Given the description of an element on the screen output the (x, y) to click on. 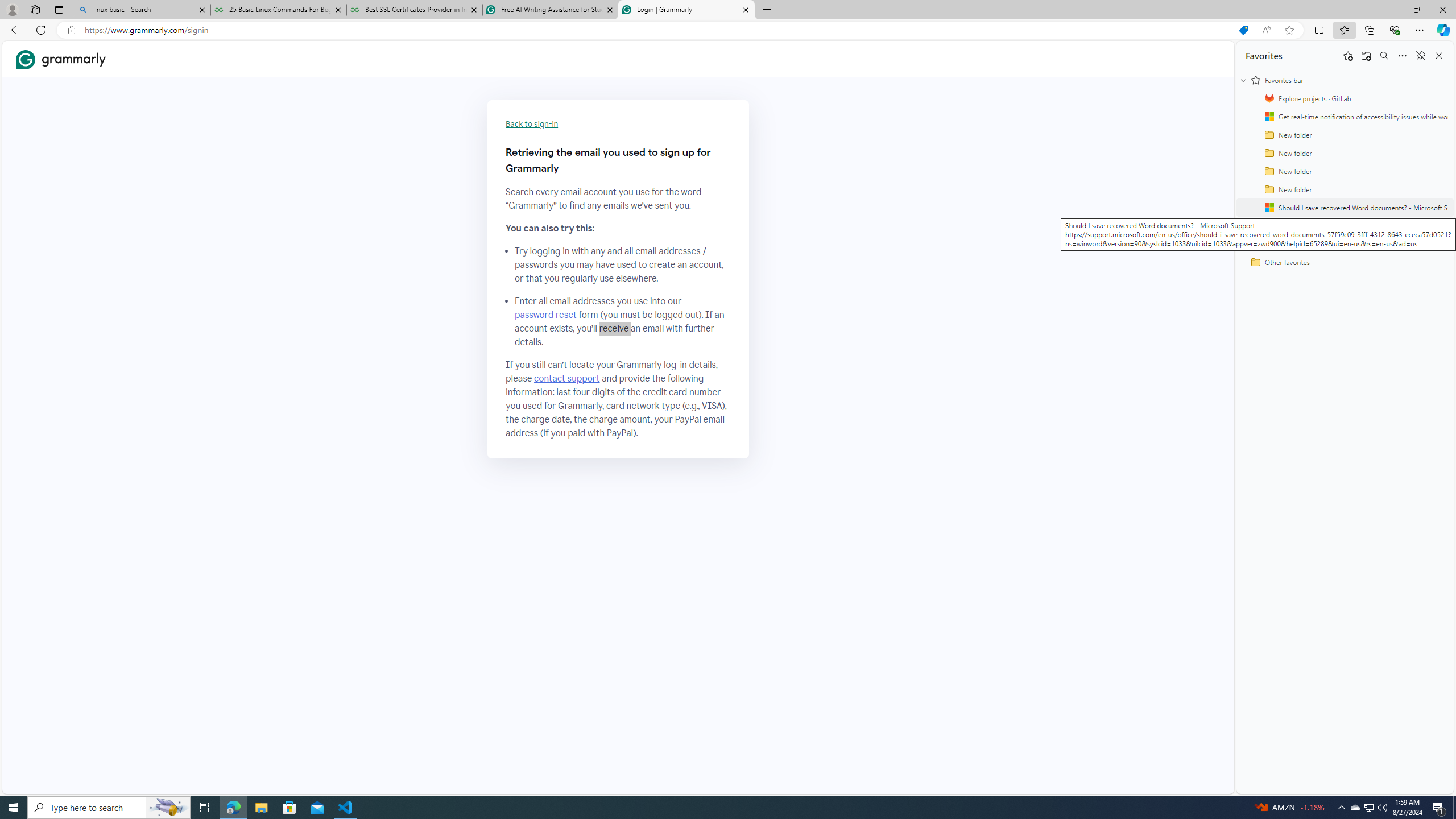
Back to sign-in (532, 124)
Best SSL Certificates Provider in India - GeeksforGeeks (414, 9)
Login | Grammarly (685, 9)
linux basic - Search (142, 9)
